Given the description of an element on the screen output the (x, y) to click on. 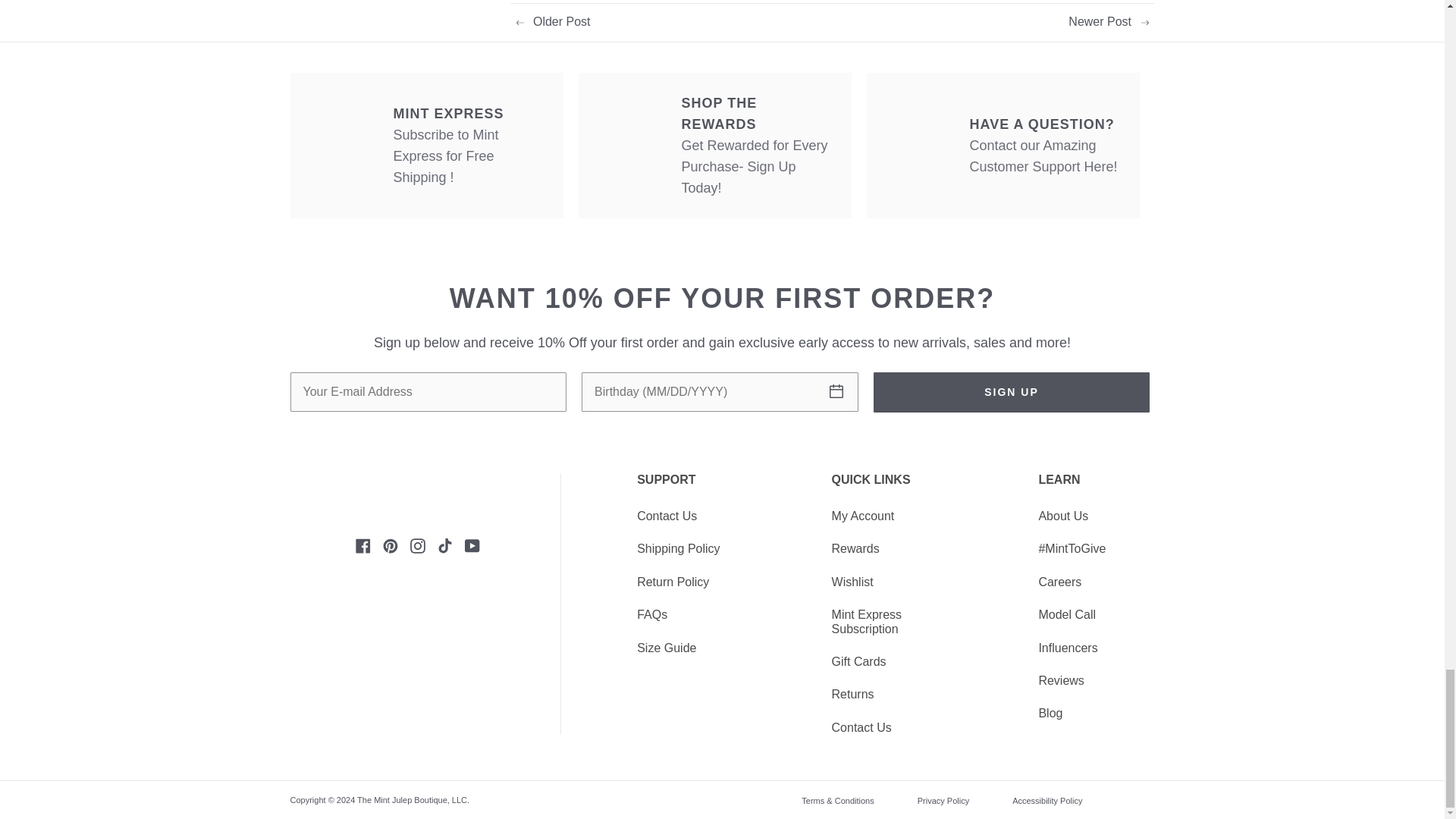
Sign Up (1011, 392)
Shop the Mint on YouTube (472, 544)
Shop the Mint on Facebook (363, 544)
Shop the Mint on Pinterest (390, 544)
Shop the Mint on TikTok (444, 544)
Shop the Mint on Instagram (417, 544)
